Given the description of an element on the screen output the (x, y) to click on. 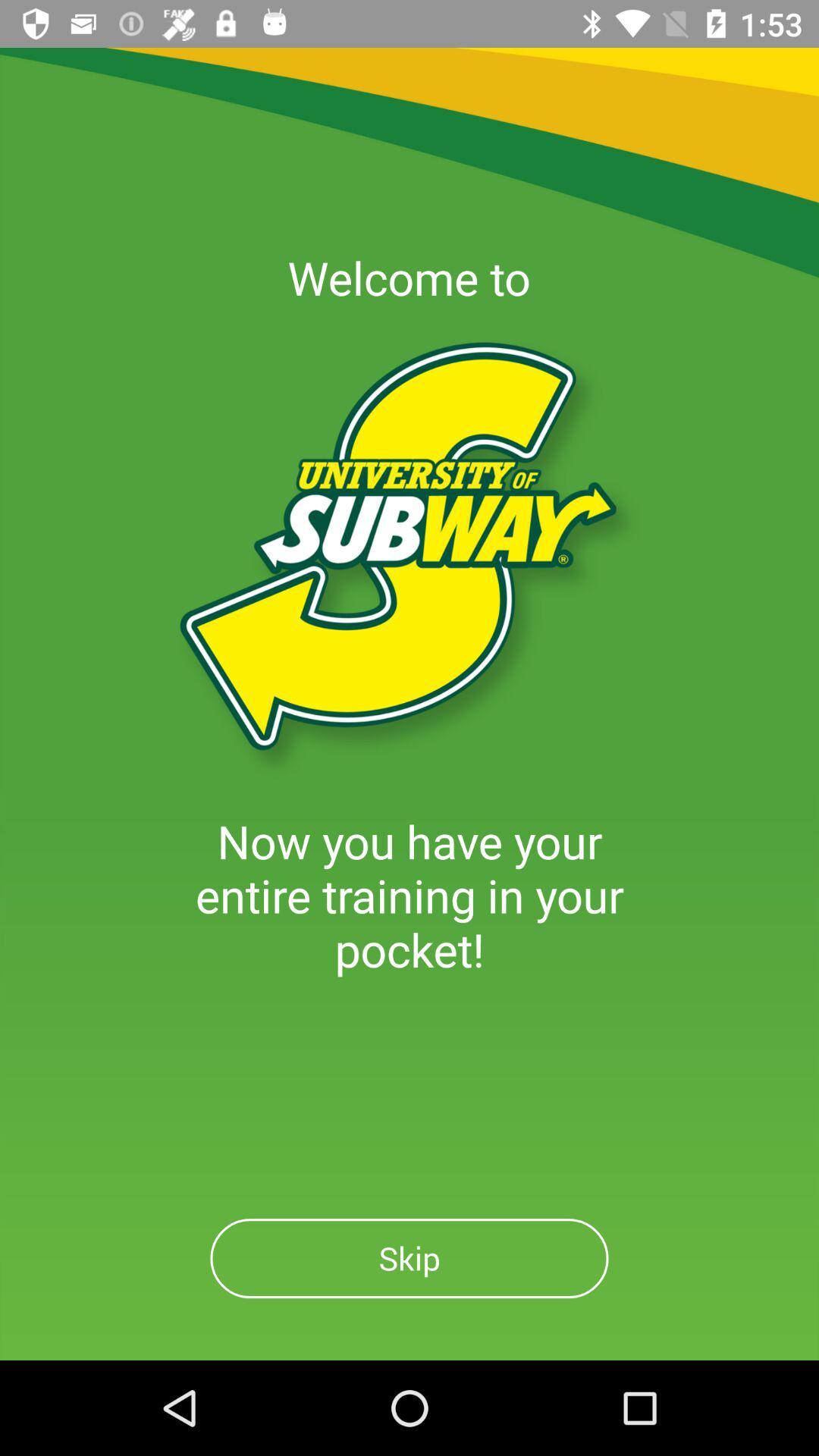
turn on icon below now you have item (409, 1258)
